Given the description of an element on the screen output the (x, y) to click on. 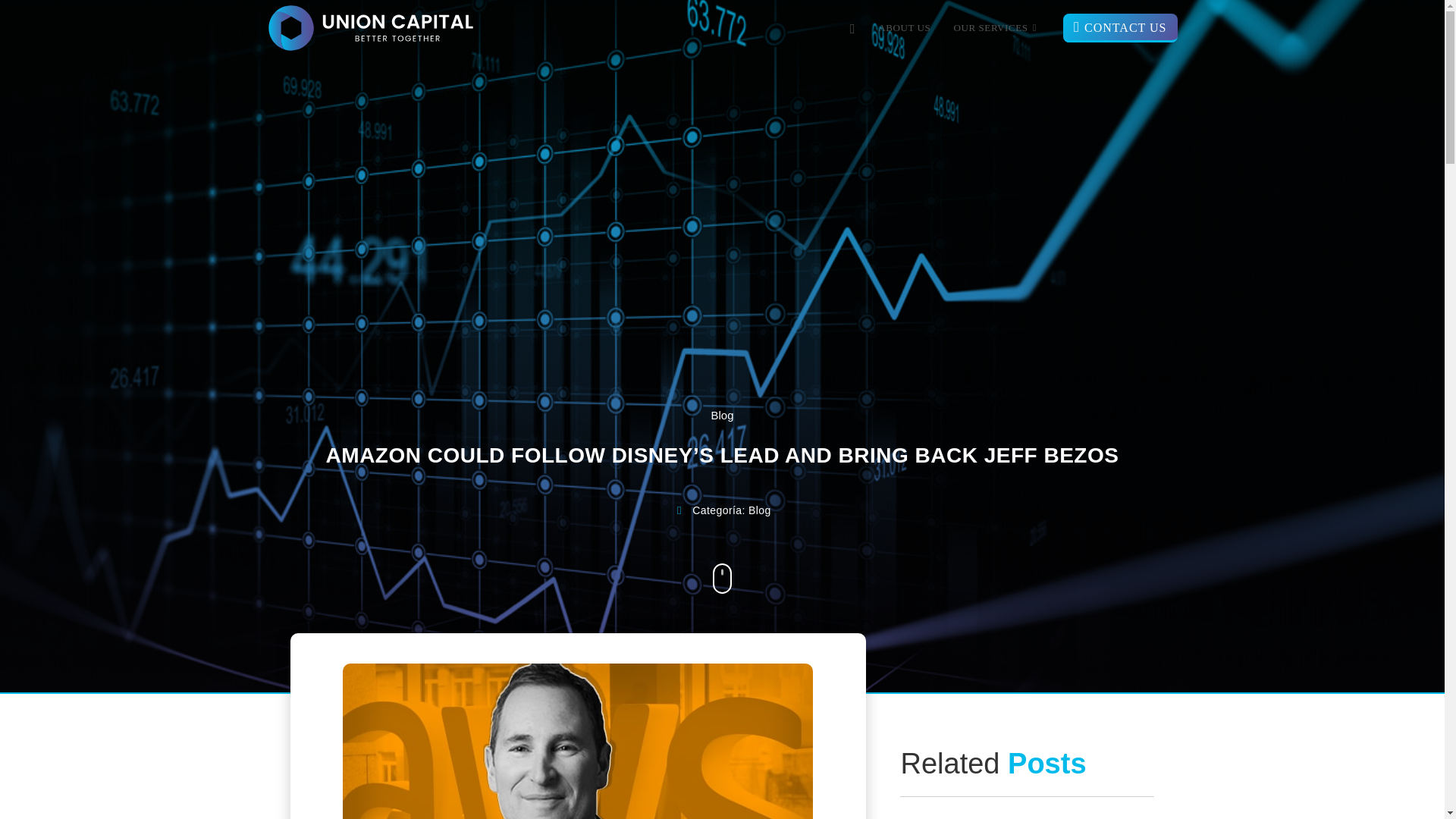
OUR SERVICES (996, 28)
Blog (721, 414)
Blog (759, 510)
CONTACT US (1119, 28)
ABOUT US (904, 28)
